Given the description of an element on the screen output the (x, y) to click on. 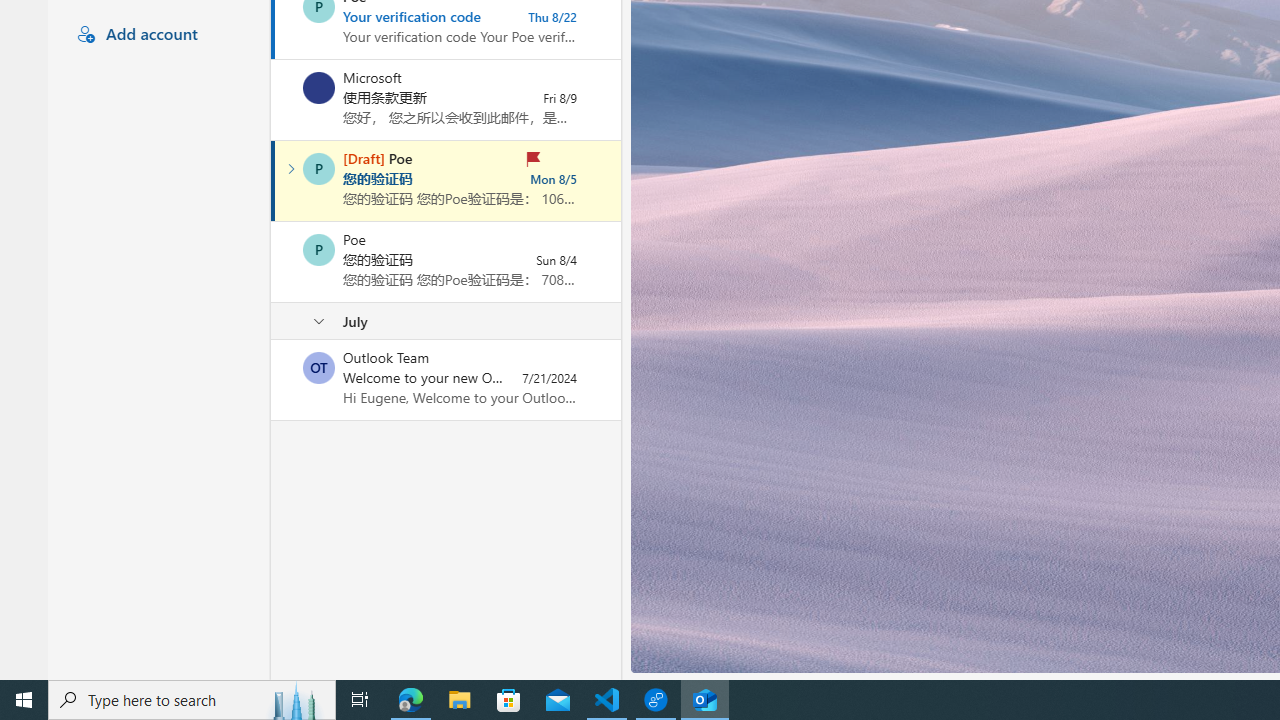
Mark as read (273, 181)
Microsoft (319, 87)
Select a conversation (319, 367)
Mark as unread (273, 379)
Expand conversation (291, 168)
Poe (319, 249)
Outlook Team (319, 367)
